Given the description of an element on the screen output the (x, y) to click on. 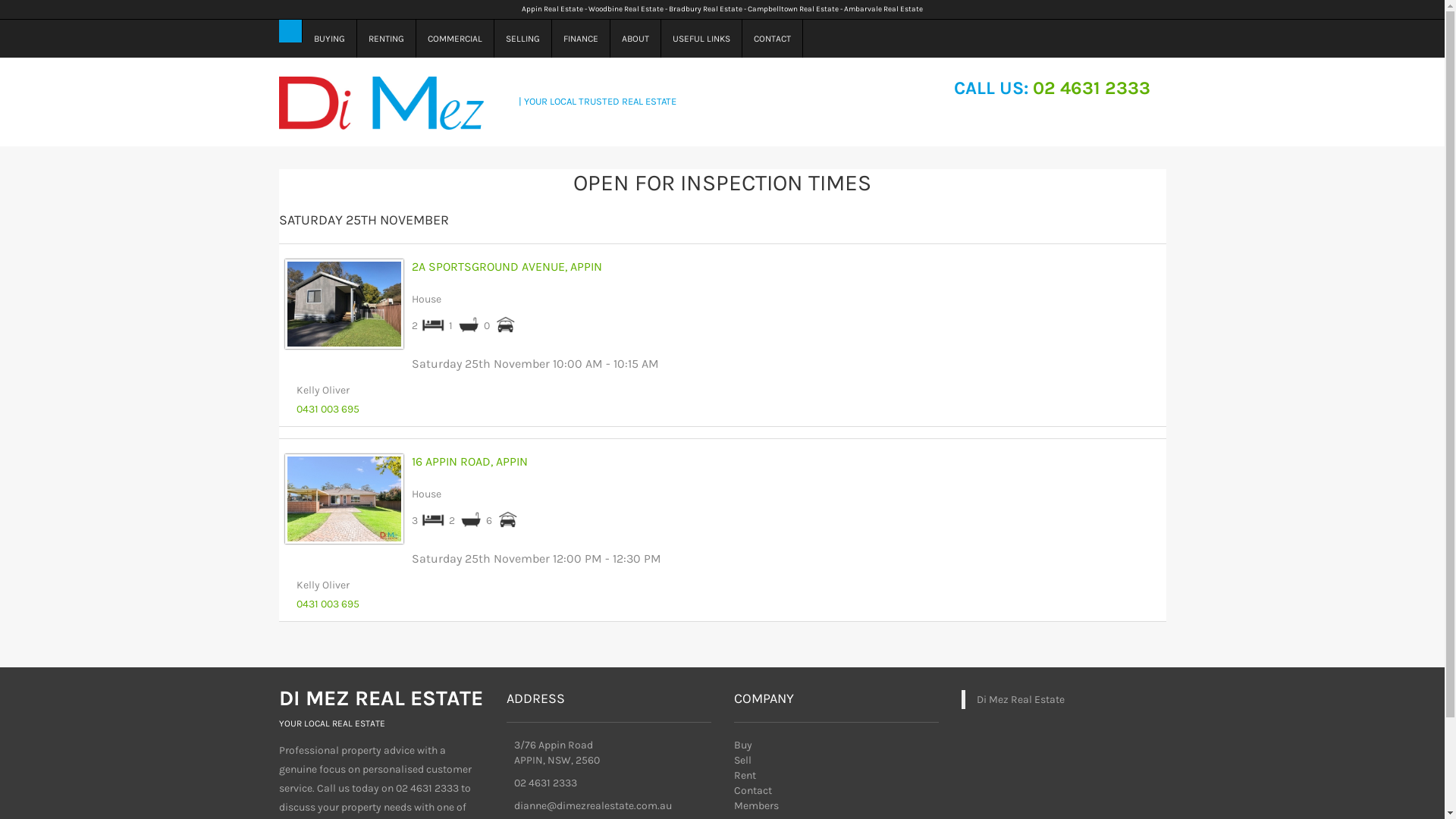
Members Element type: text (756, 805)
CONTACT Element type: text (771, 38)
SELLING Element type: text (523, 38)
0431 003 695 Element type: text (326, 408)
16 APPIN ROAD, APPIN Element type: text (469, 461)
ABOUT Element type: text (634, 38)
BUYING Element type: text (328, 38)
COMMERCIAL Element type: text (454, 38)
RENTING Element type: text (385, 38)
Di Mez Real Estate Element type: text (1020, 699)
FINANCE Element type: text (581, 38)
Rent Element type: text (745, 774)
0431 003 695 Element type: text (326, 603)
2A SPORTSGROUND AVENUE, APPIN Element type: text (506, 266)
Sell Element type: text (742, 759)
Contact Element type: text (752, 790)
02 4631 2333 Element type: text (1091, 87)
Buy Element type: text (743, 744)
dianne@dimezrealestate.com.au Element type: text (592, 805)
USEFUL LINKS Element type: text (701, 38)
02 4631 2333 Element type: text (545, 782)
